Given the description of an element on the screen output the (x, y) to click on. 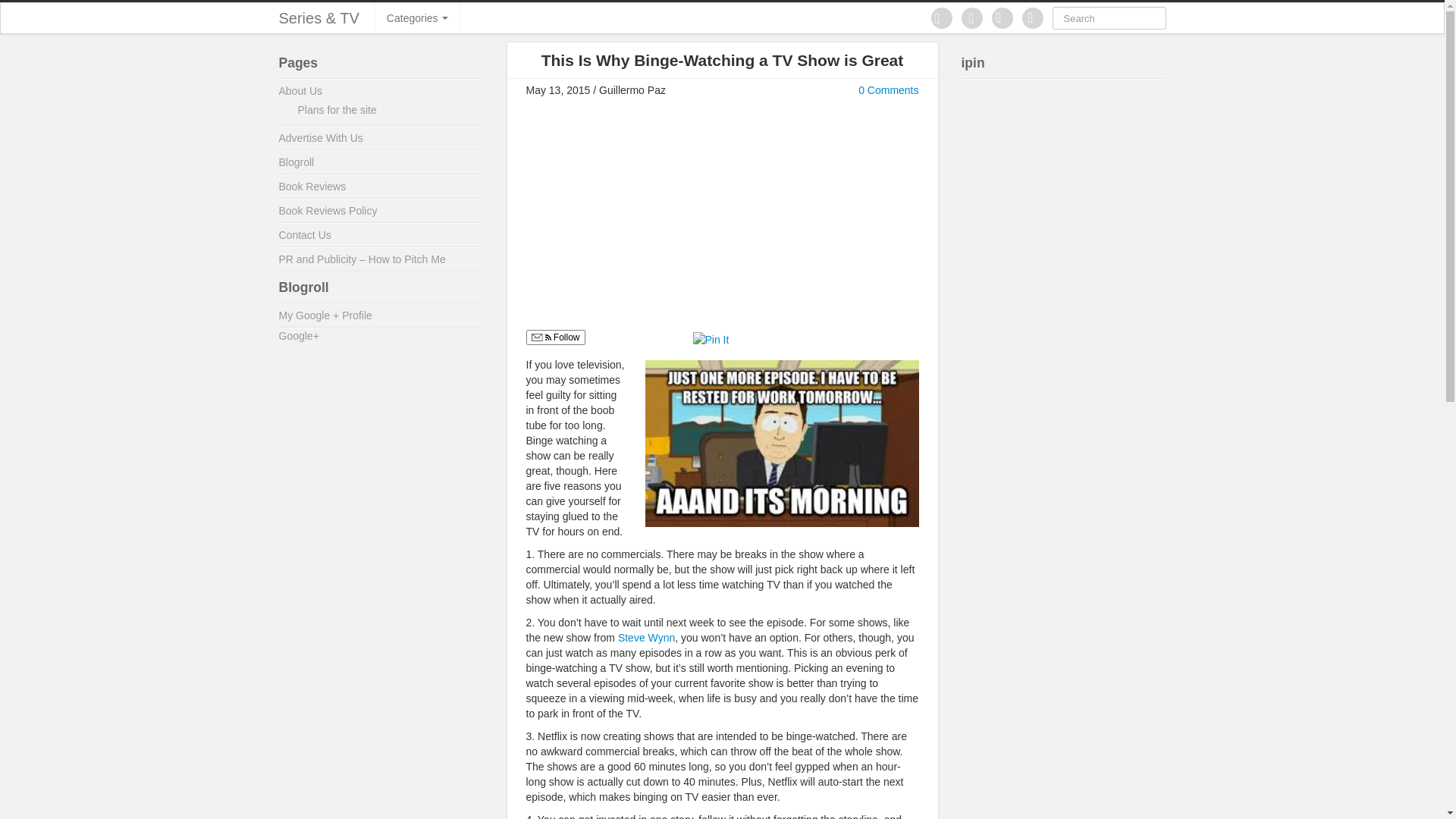
Follow us on Pinterest (941, 17)
Steve Wynn (646, 637)
0 Comments (888, 90)
About Us (301, 91)
Advertisement (652, 219)
Email, RSS (540, 338)
Follow us on Twitter (1002, 17)
Share on Tumblr (791, 337)
Advertise With Us (320, 137)
Subscribe to our RSS Feed (1032, 17)
Plans for the site (336, 110)
Share on Tumblr (791, 337)
Find us on Facebook (971, 17)
Follow (555, 337)
Categories (417, 18)
